Given the description of an element on the screen output the (x, y) to click on. 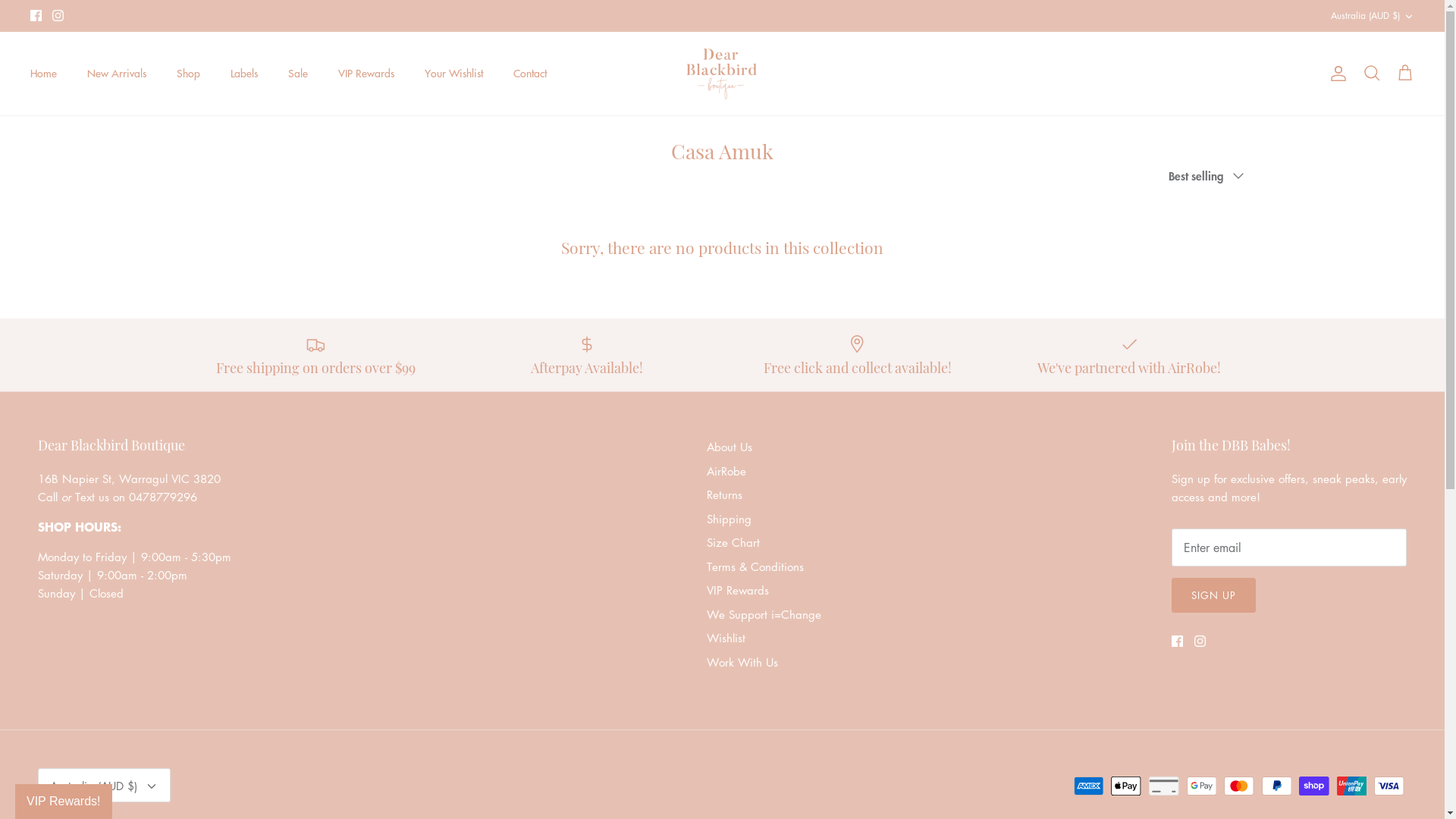
SIGN UP Element type: text (1213, 594)
Work With Us Element type: text (742, 661)
Size Chart Element type: text (732, 541)
We've partnered with AirRobe! Element type: text (1128, 354)
Free shipping on orders over $99 Element type: text (315, 354)
Facebook Element type: text (35, 15)
Home Element type: text (43, 72)
Labels Element type: text (243, 72)
About Us Element type: text (729, 446)
AirRobe Element type: text (726, 470)
We Support i=Change Element type: text (763, 613)
Cart Element type: text (1405, 73)
Your Wishlist Element type: text (453, 72)
Search Element type: text (1371, 73)
Returns Element type: text (724, 494)
Australia (AUD $)
Down Element type: text (103, 785)
Dear Blackbird Boutique Element type: hover (722, 73)
VIP Rewards Element type: text (365, 72)
Best selling Element type: text (1209, 175)
Shop Element type: text (188, 72)
Contact Element type: text (529, 72)
Account Element type: text (1335, 73)
VIP Rewards Element type: text (737, 589)
Wishlist Element type: text (725, 637)
Shipping Element type: text (728, 518)
Sale Element type: text (297, 72)
New Arrivals Element type: text (116, 72)
0478779296  Element type: text (164, 496)
Instagram Element type: text (57, 15)
Australia (AUD $)
Down Element type: text (1372, 15)
Terms & Conditions Element type: text (754, 566)
Facebook Element type: text (1177, 640)
Instagram Element type: text (1199, 640)
